Given the description of an element on the screen output the (x, y) to click on. 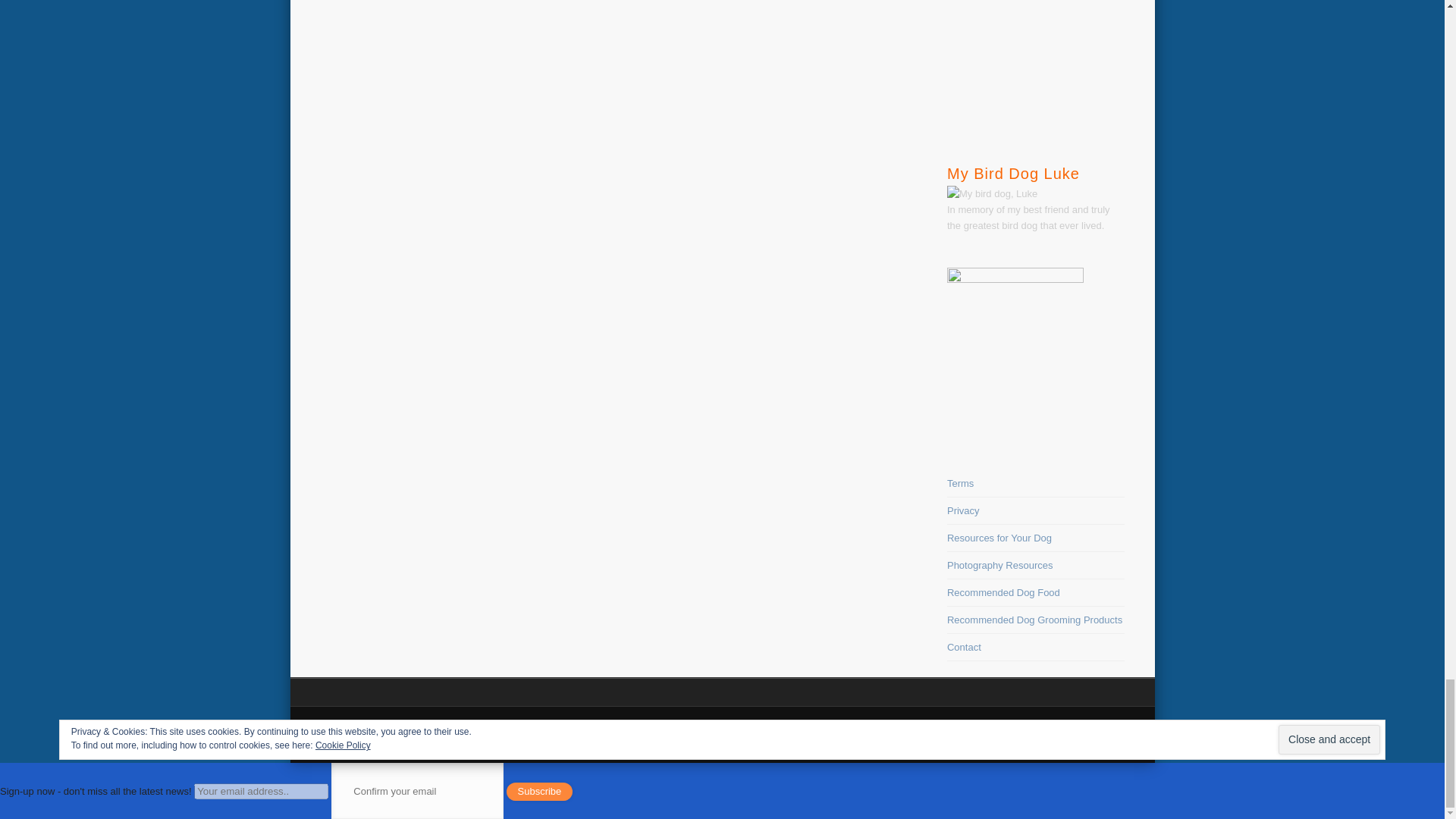
Subscribe (539, 791)
